Given the description of an element on the screen output the (x, y) to click on. 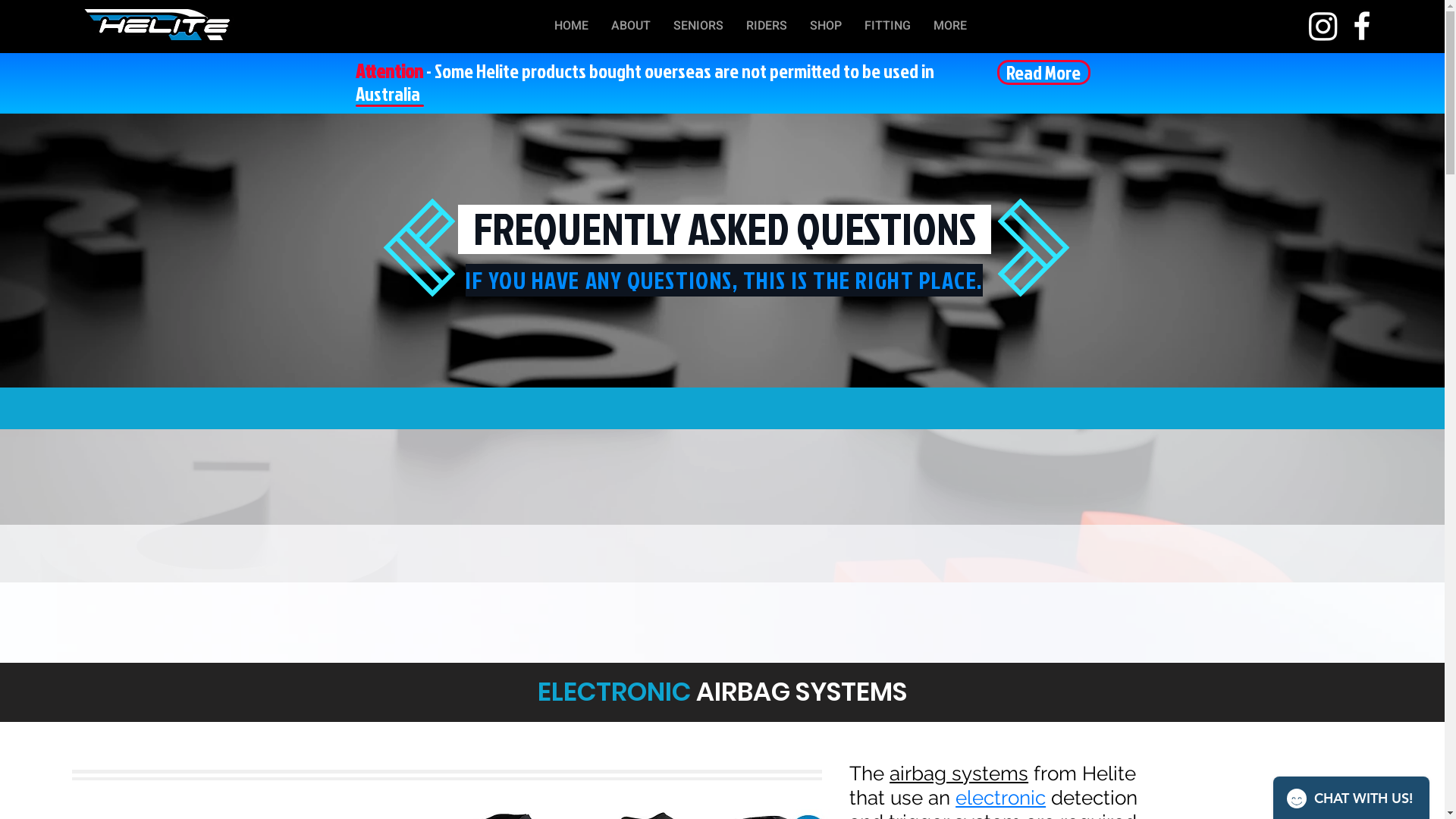
RIDERS Element type: text (766, 25)
Read More Element type: text (1042, 71)
HOME Element type: text (570, 25)
FITTING Element type: text (887, 25)
SHOP Element type: text (825, 25)
ABOUT Element type: text (630, 25)
SENIORS Element type: text (698, 25)
